Given the description of an element on the screen output the (x, y) to click on. 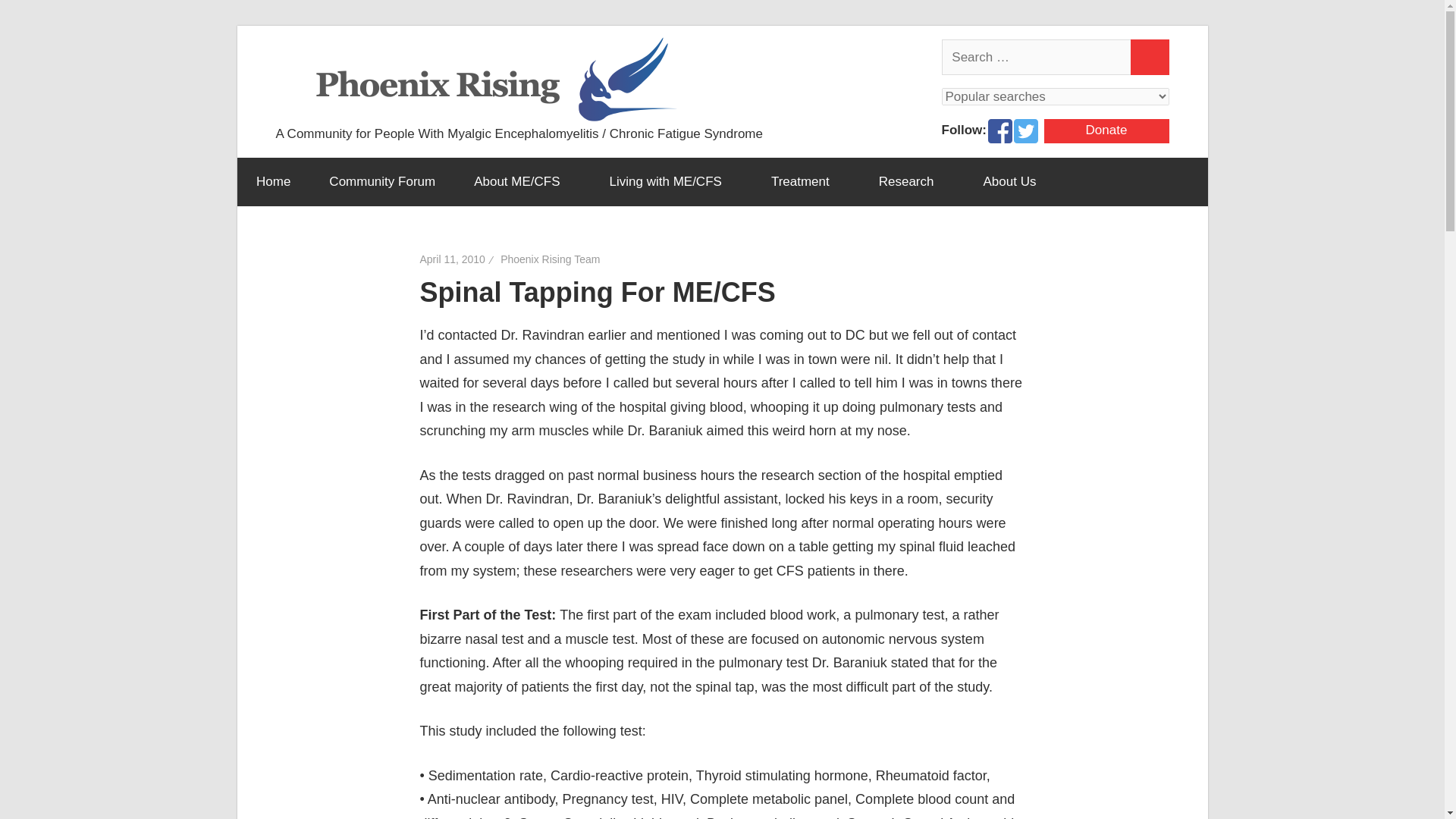
Home (271, 182)
Treatment (805, 182)
April 11, 2010 (452, 259)
View all posts by Phoenix Rising Team (549, 259)
Search for: (1037, 57)
Search (1150, 57)
Community Forum (382, 182)
About Us (1014, 182)
Research (911, 182)
2:52 pm (452, 259)
Donate (1106, 130)
